Given the description of an element on the screen output the (x, y) to click on. 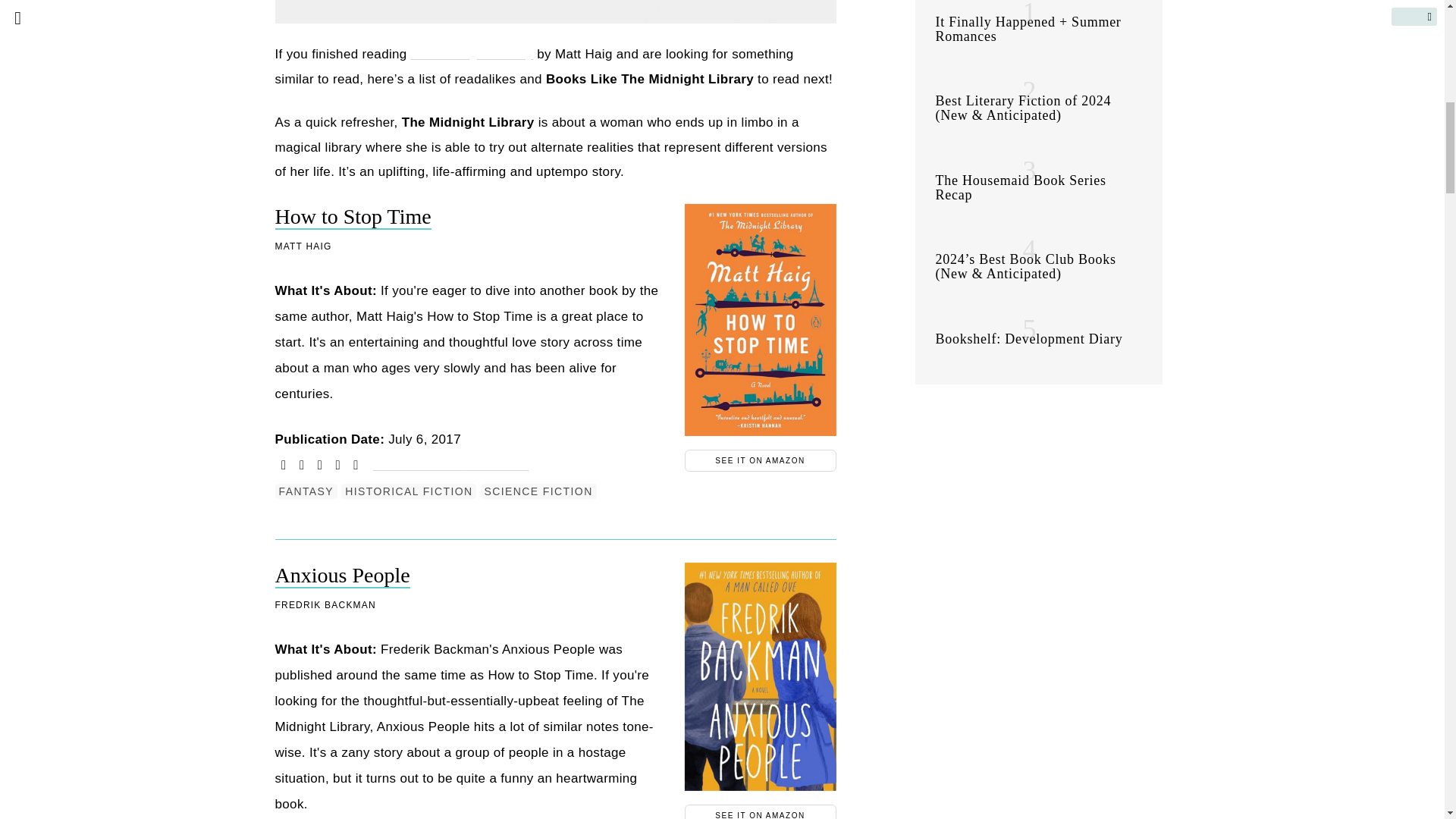
The Housemaid Book Series Recap (1021, 187)
